Given the description of an element on the screen output the (x, y) to click on. 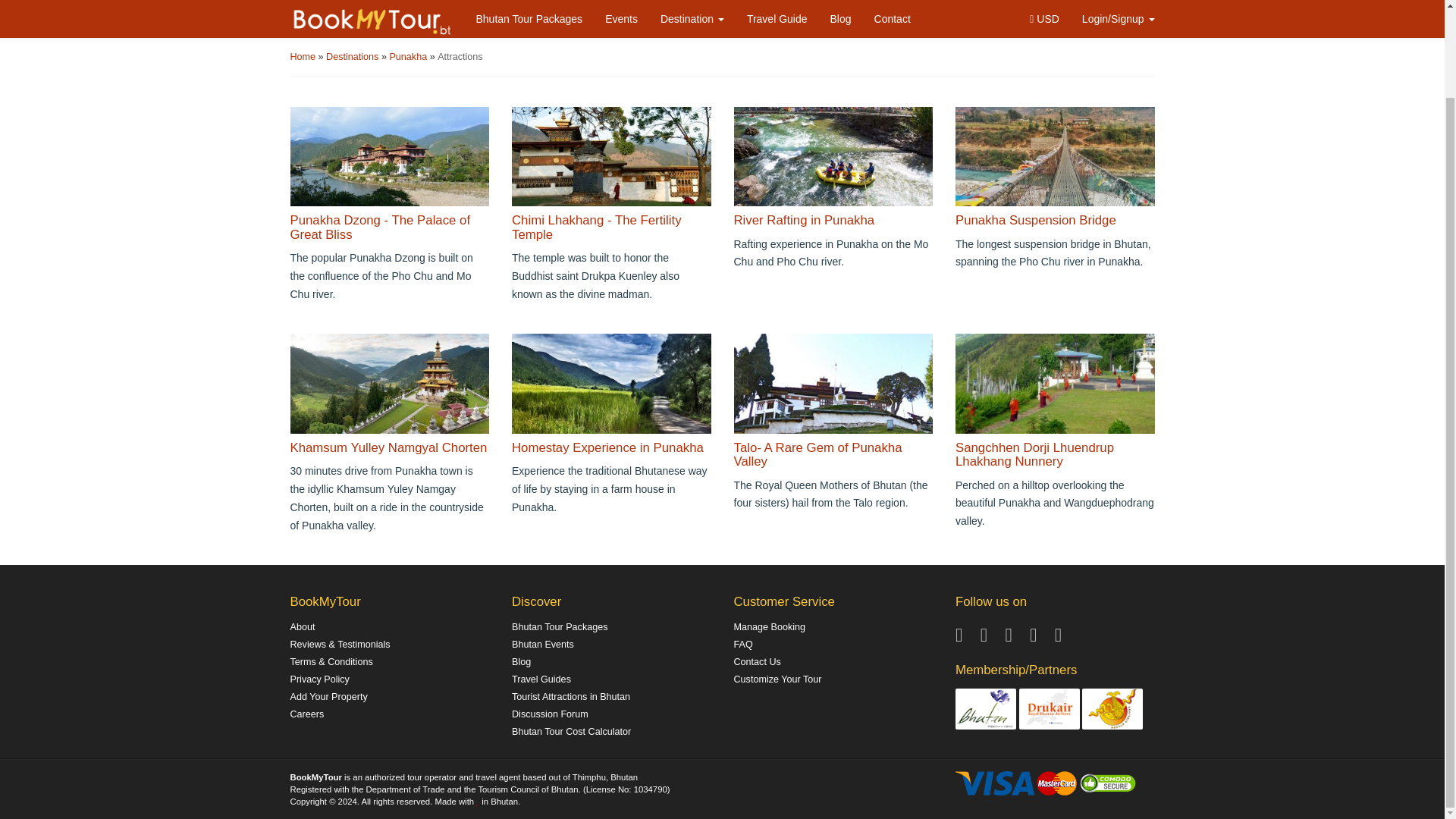
Tourism Council of Bhutan (985, 707)
Destinations (353, 56)
Home (303, 56)
Punakha (408, 56)
Attractions (460, 56)
Bhutan Airlines (1111, 707)
DrukAir - Royal Bhutan Airlines (1049, 707)
